Given the description of an element on the screen output the (x, y) to click on. 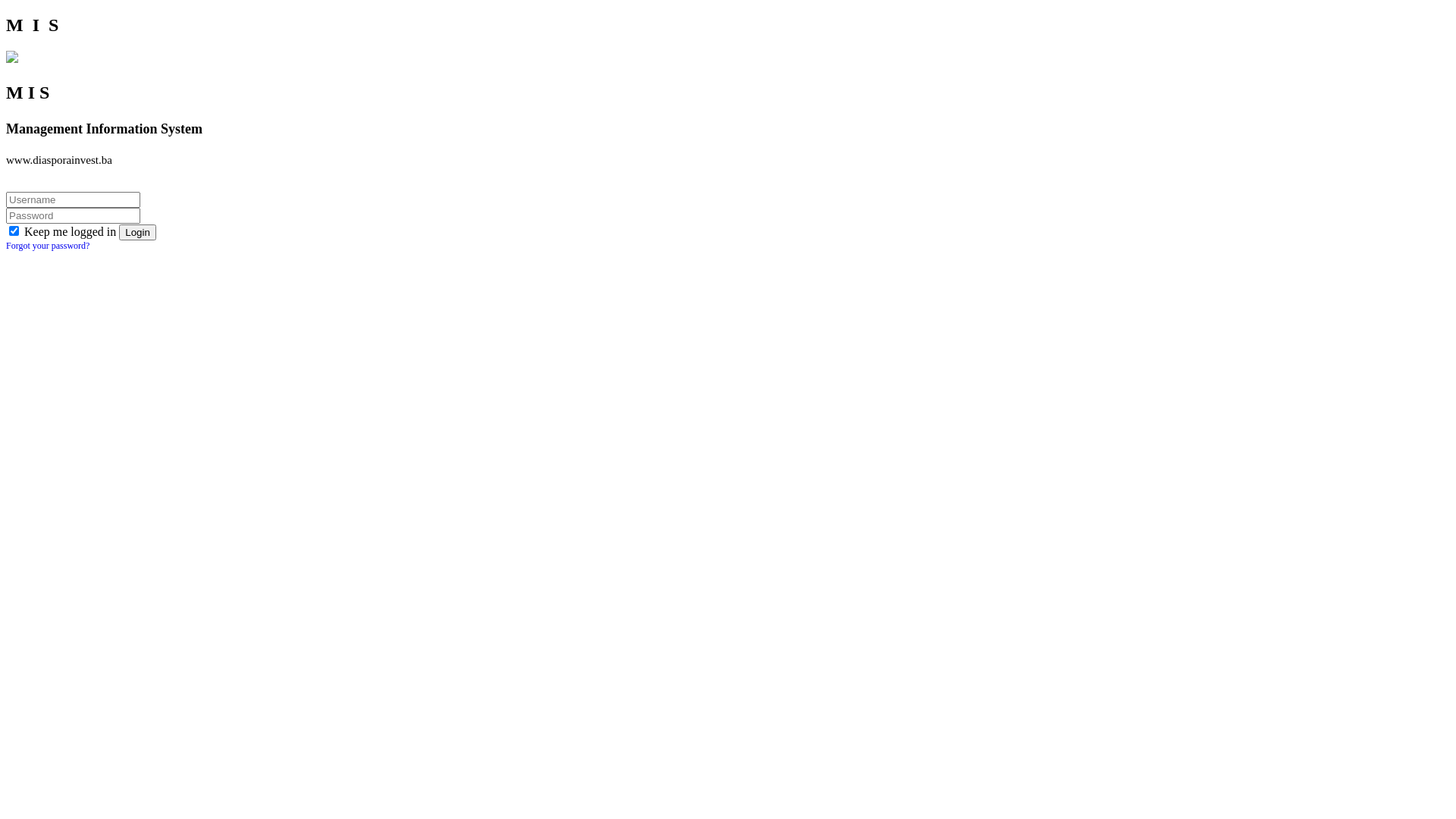
Forgot your password? Element type: text (47, 245)
Login Element type: text (137, 232)
